Given the description of an element on the screen output the (x, y) to click on. 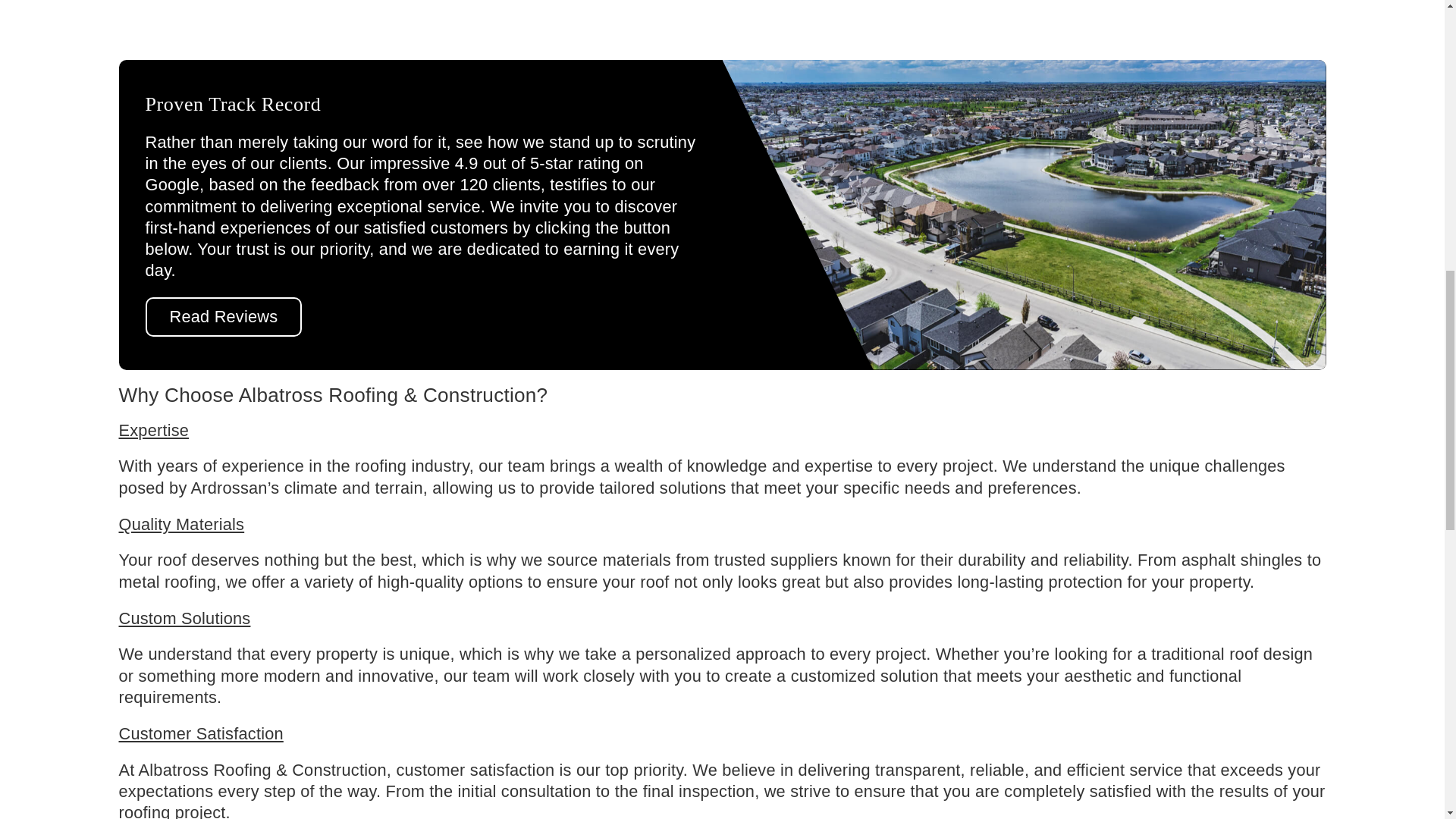
Read Reviews (223, 316)
